Given the description of an element on the screen output the (x, y) to click on. 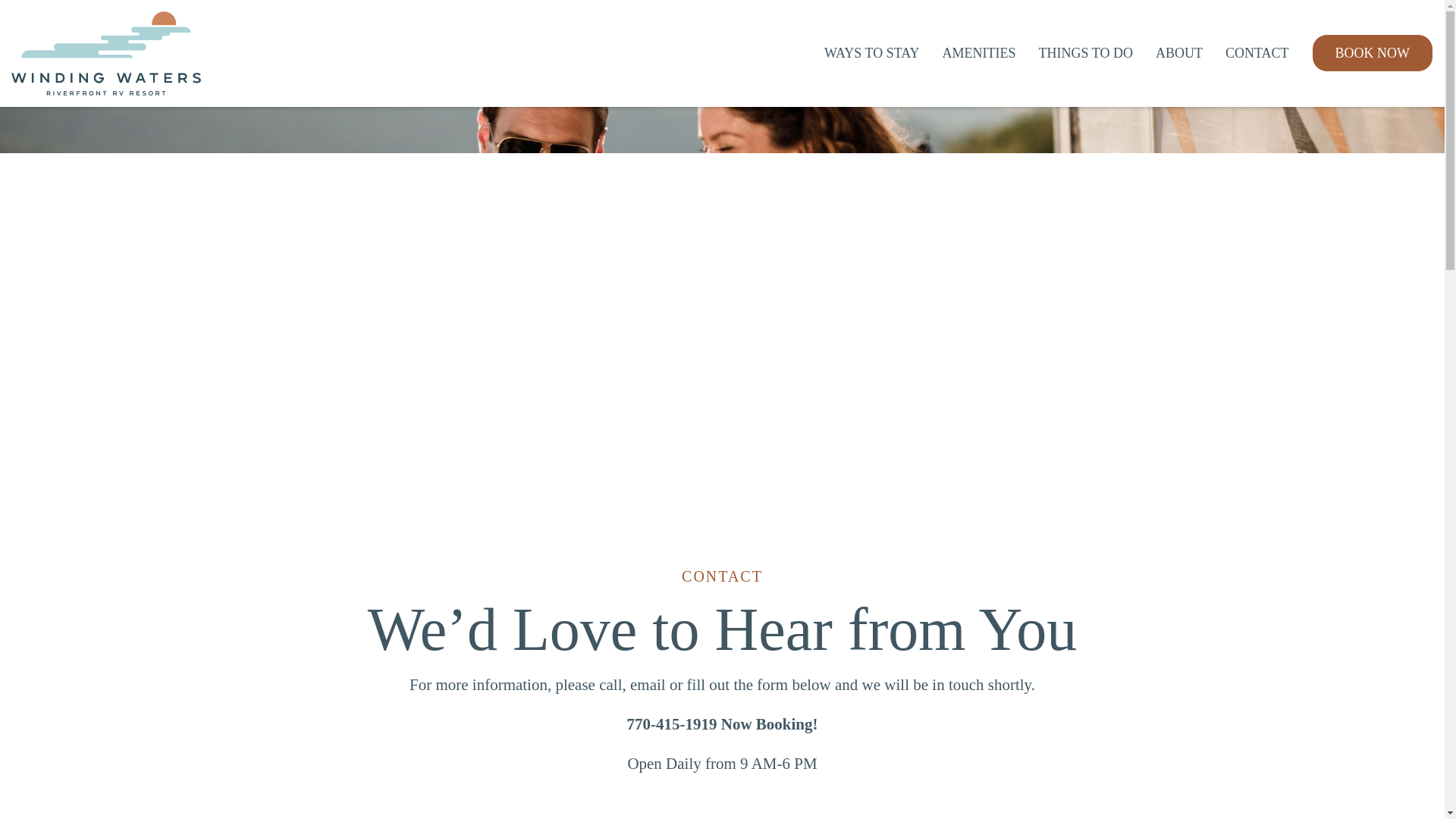
CONTACT (1256, 53)
BOOK NOW (1372, 53)
WAYS TO STAY (872, 53)
AMENITIES (979, 53)
THINGS TO DO (1085, 53)
ABOUT (1179, 53)
